Given the description of an element on the screen output the (x, y) to click on. 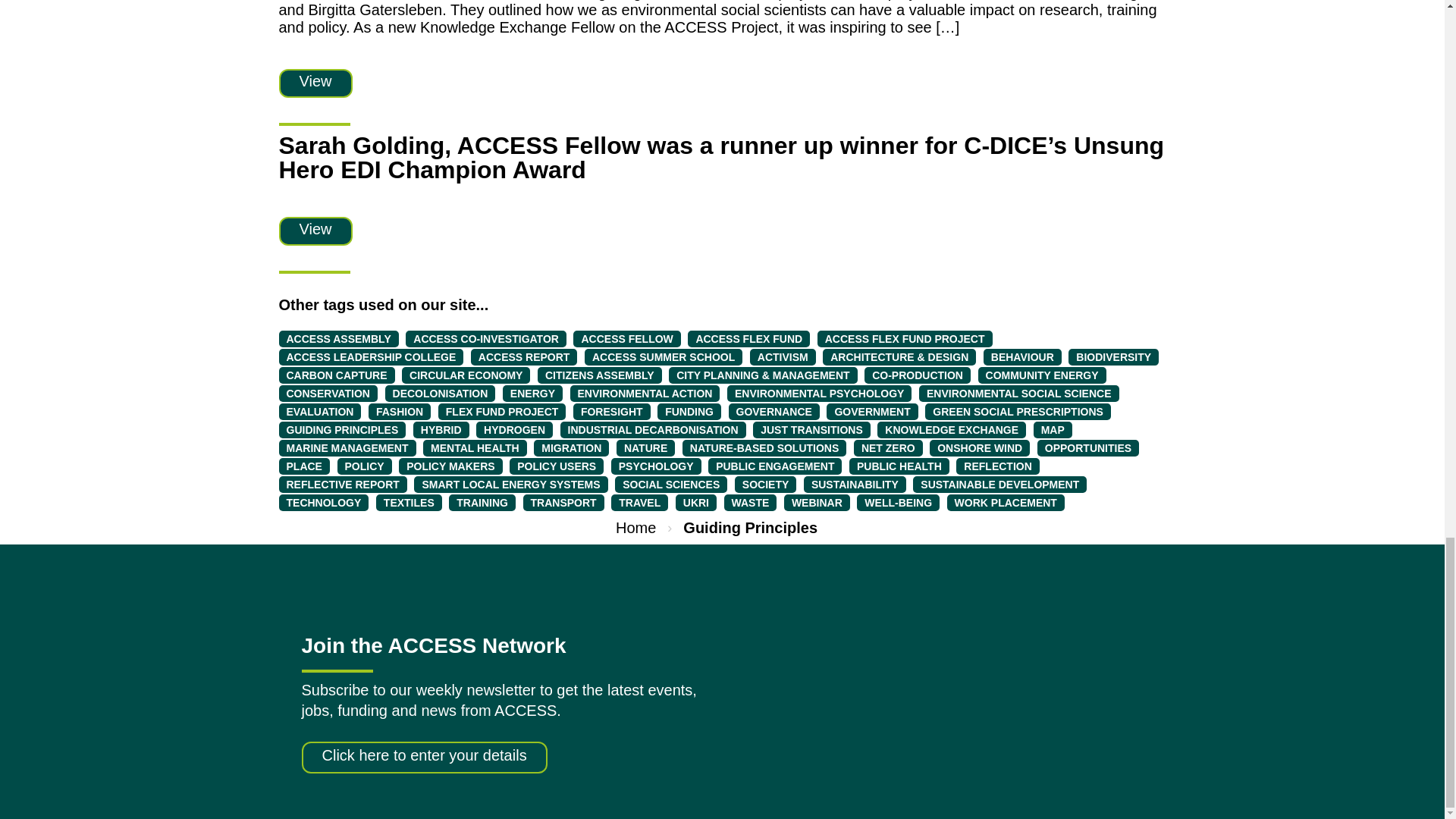
ACCESS Assembly (338, 338)
ACCESS Summer School (663, 356)
ACCESS Fellow (626, 338)
ACCESS Flex Fund (748, 338)
ACCESS Co-Investigator (486, 338)
Conservation (328, 393)
ACCESS Report (524, 356)
Carbon capture (336, 375)
Circular economy (465, 375)
Activism (782, 356)
